Given the description of an element on the screen output the (x, y) to click on. 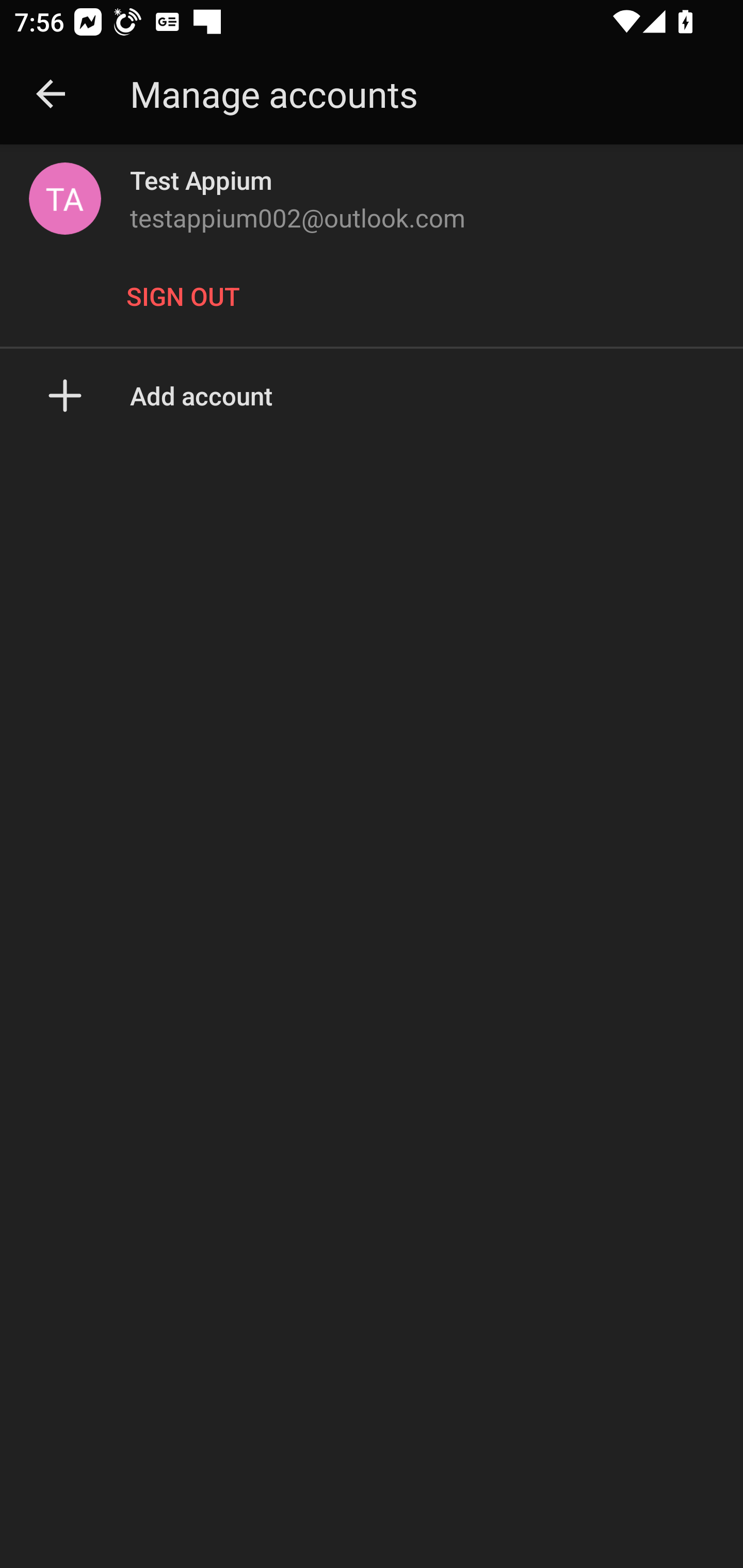
Navigate up (50, 93)
SIGN OUT (187, 295)
Add account (371, 395)
